Given the description of an element on the screen output the (x, y) to click on. 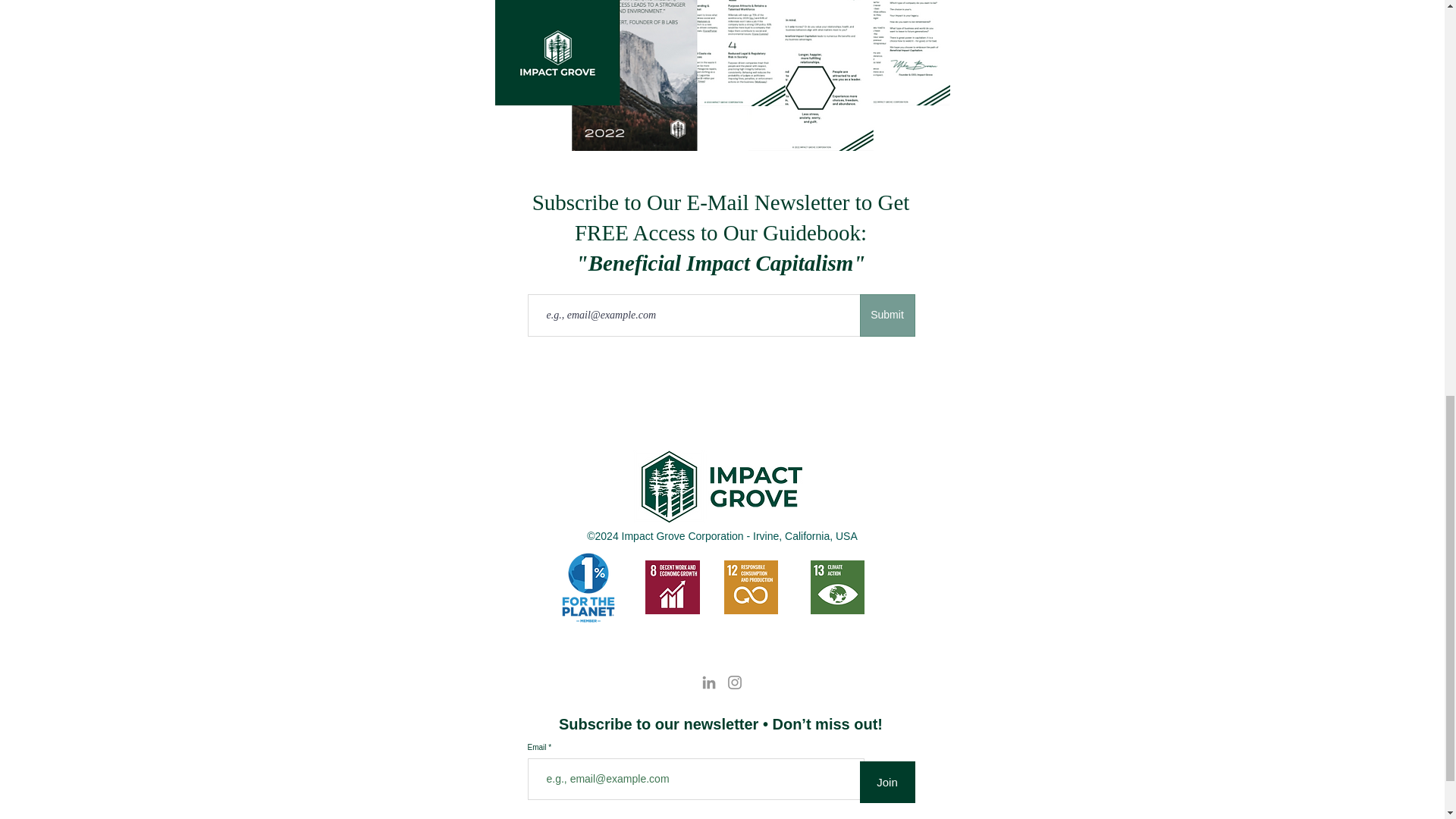
Join (887, 782)
Submit (887, 315)
UN SDG 12.png (750, 587)
UN SDG 13.png (836, 587)
UN SDG 8.png (671, 587)
